Given the description of an element on the screen output the (x, y) to click on. 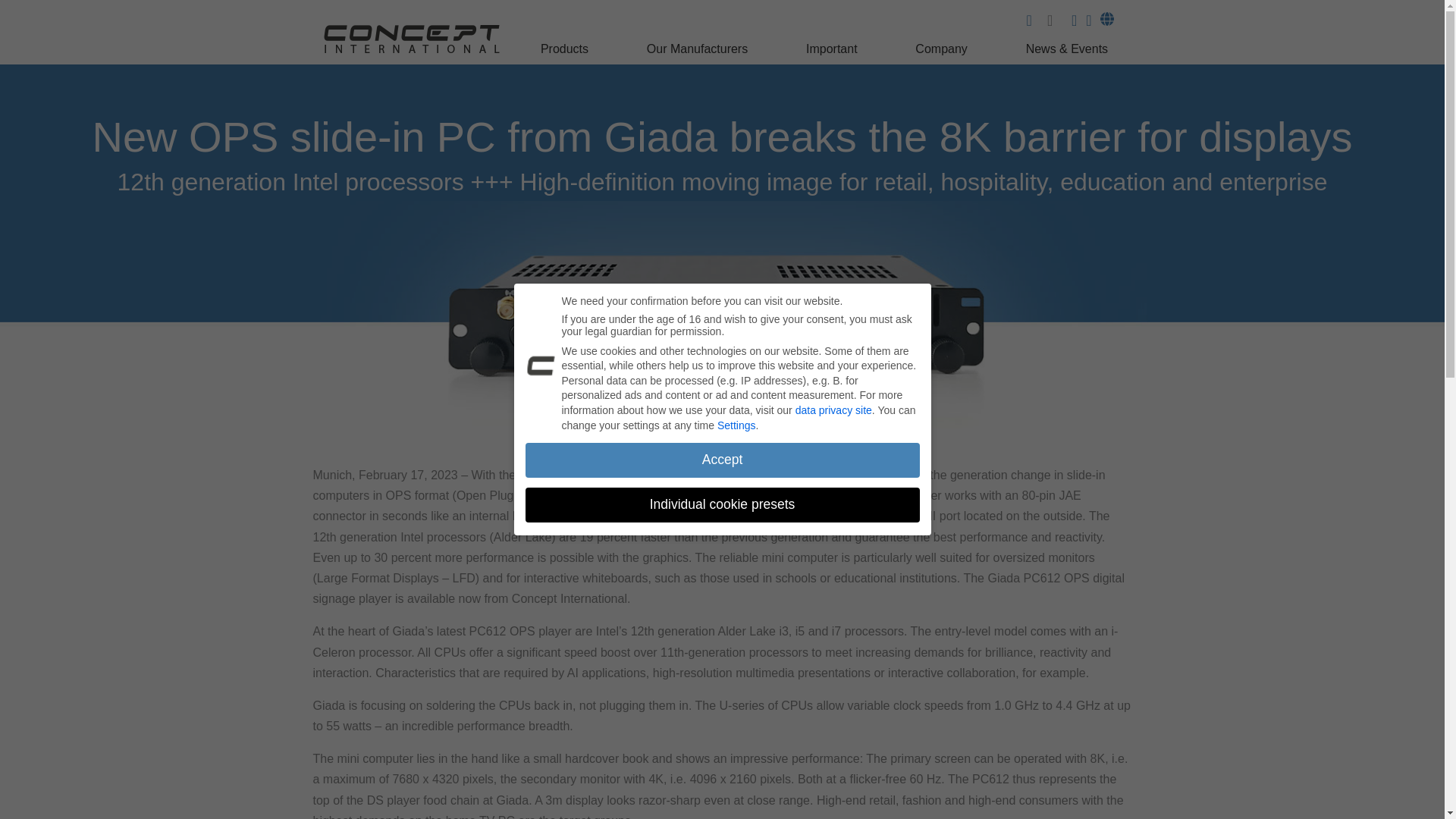
Our Manufacturers (699, 52)
Important (833, 52)
Company (943, 52)
Products (566, 52)
